Given the description of an element on the screen output the (x, y) to click on. 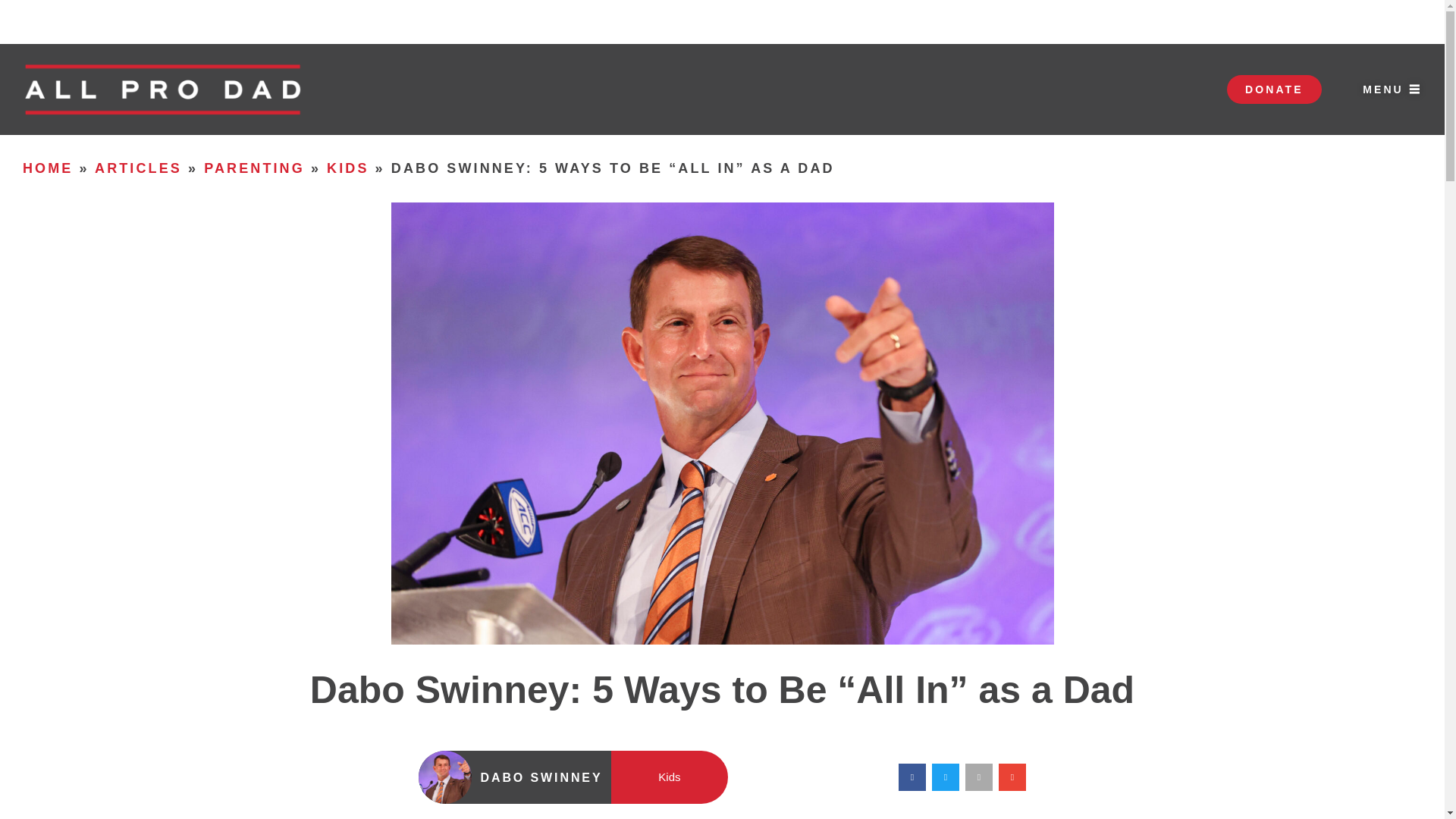
PARENTING (253, 168)
KIDS (347, 168)
ARTICLES (138, 168)
DABO SWINNEY (541, 777)
DONATE (1274, 89)
HOME (47, 168)
Kids (668, 776)
